Given the description of an element on the screen output the (x, y) to click on. 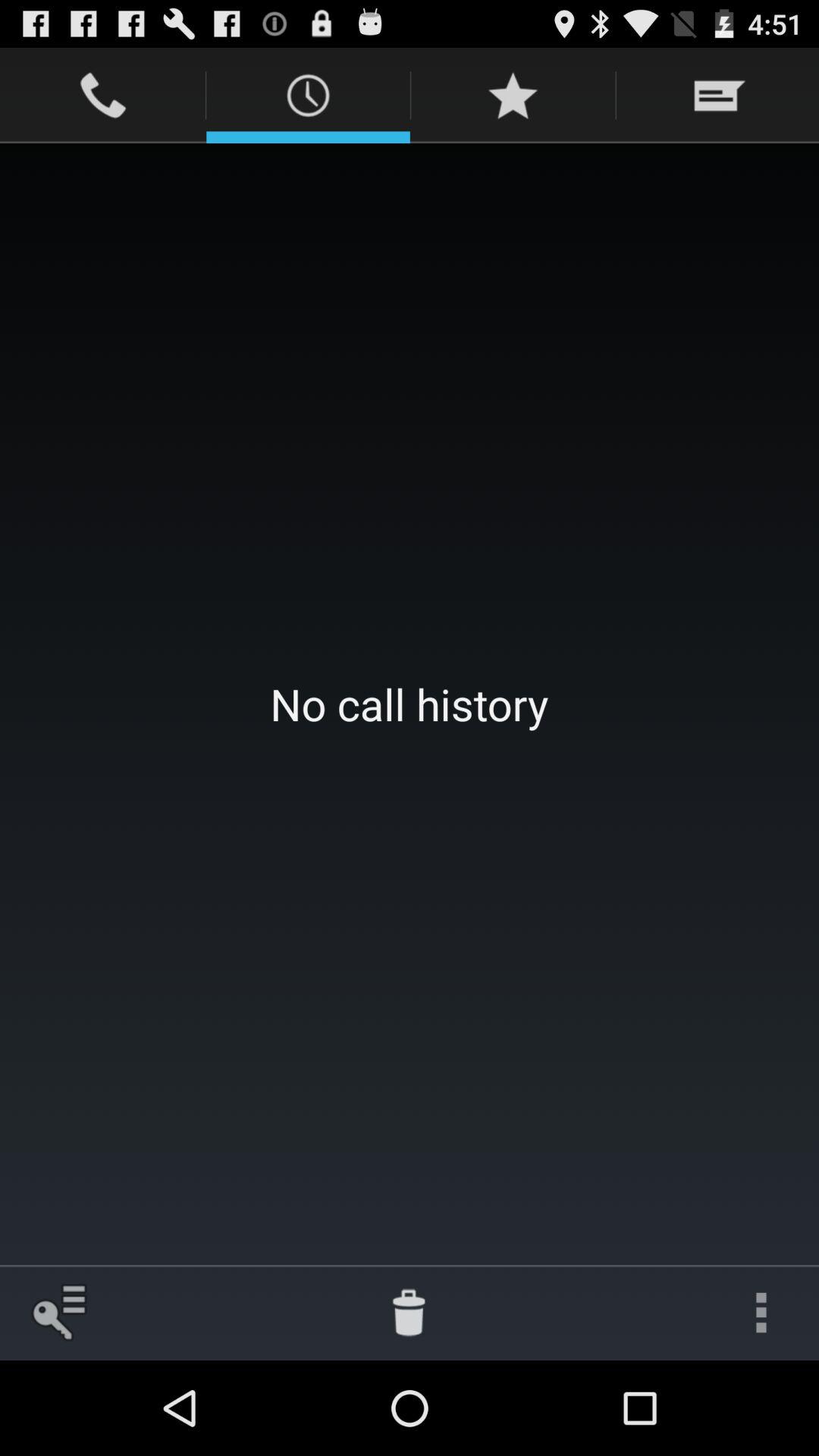
turn off icon at the bottom right corner (760, 1312)
